Given the description of an element on the screen output the (x, y) to click on. 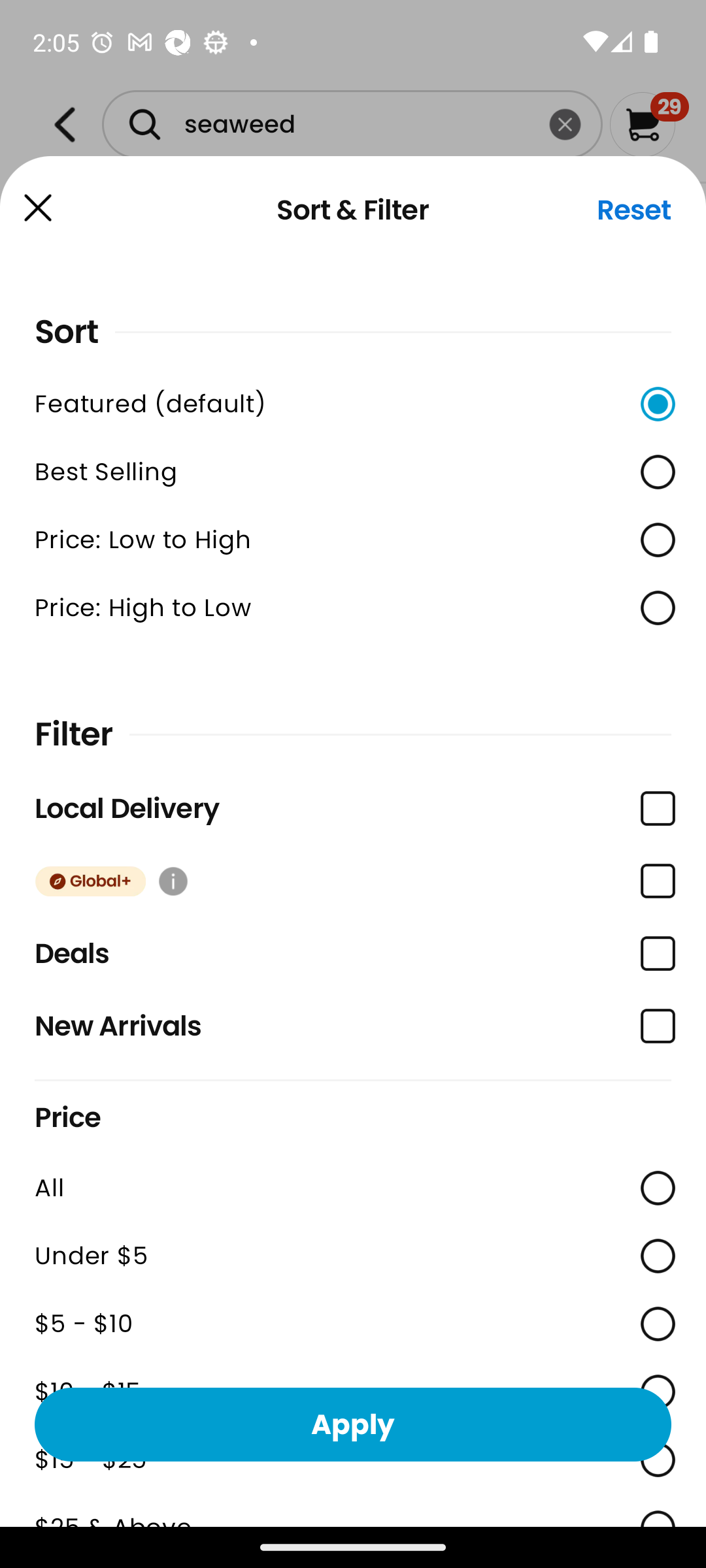
Reset (633, 209)
Apply (352, 1424)
